Given the description of an element on the screen output the (x, y) to click on. 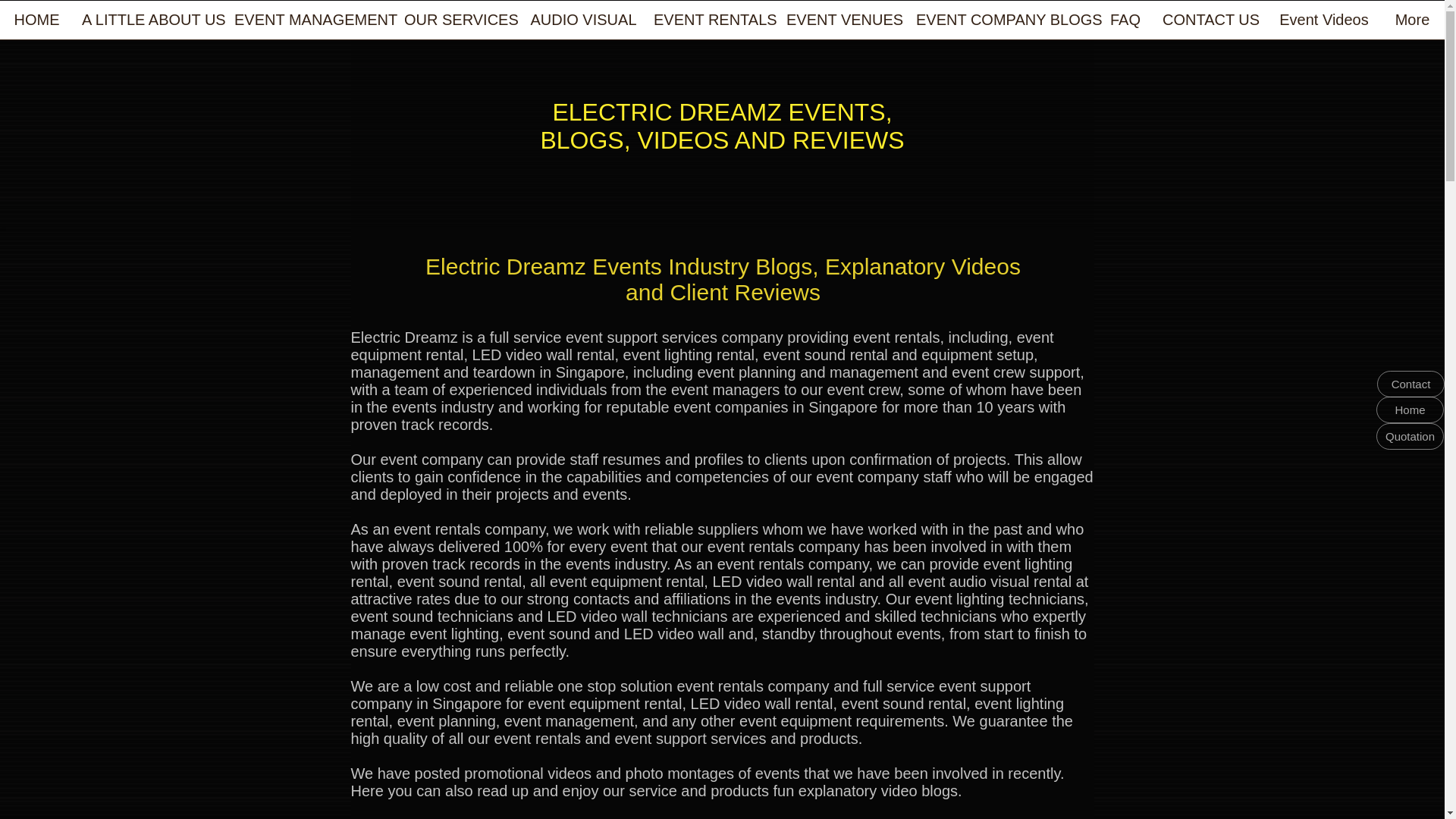
Electric Dreamz Events Industry Blogs, Explanatory Videos (722, 266)
A LITTLE ABOUT US (149, 24)
EVENT COMPANY BLOGS (1001, 24)
Quotation (1409, 436)
Home (1409, 409)
Event Videos (1324, 24)
FAQ (1125, 24)
EVENT VENUES (842, 24)
CONTACT US (1211, 24)
HOME (37, 24)
